Given the description of an element on the screen output the (x, y) to click on. 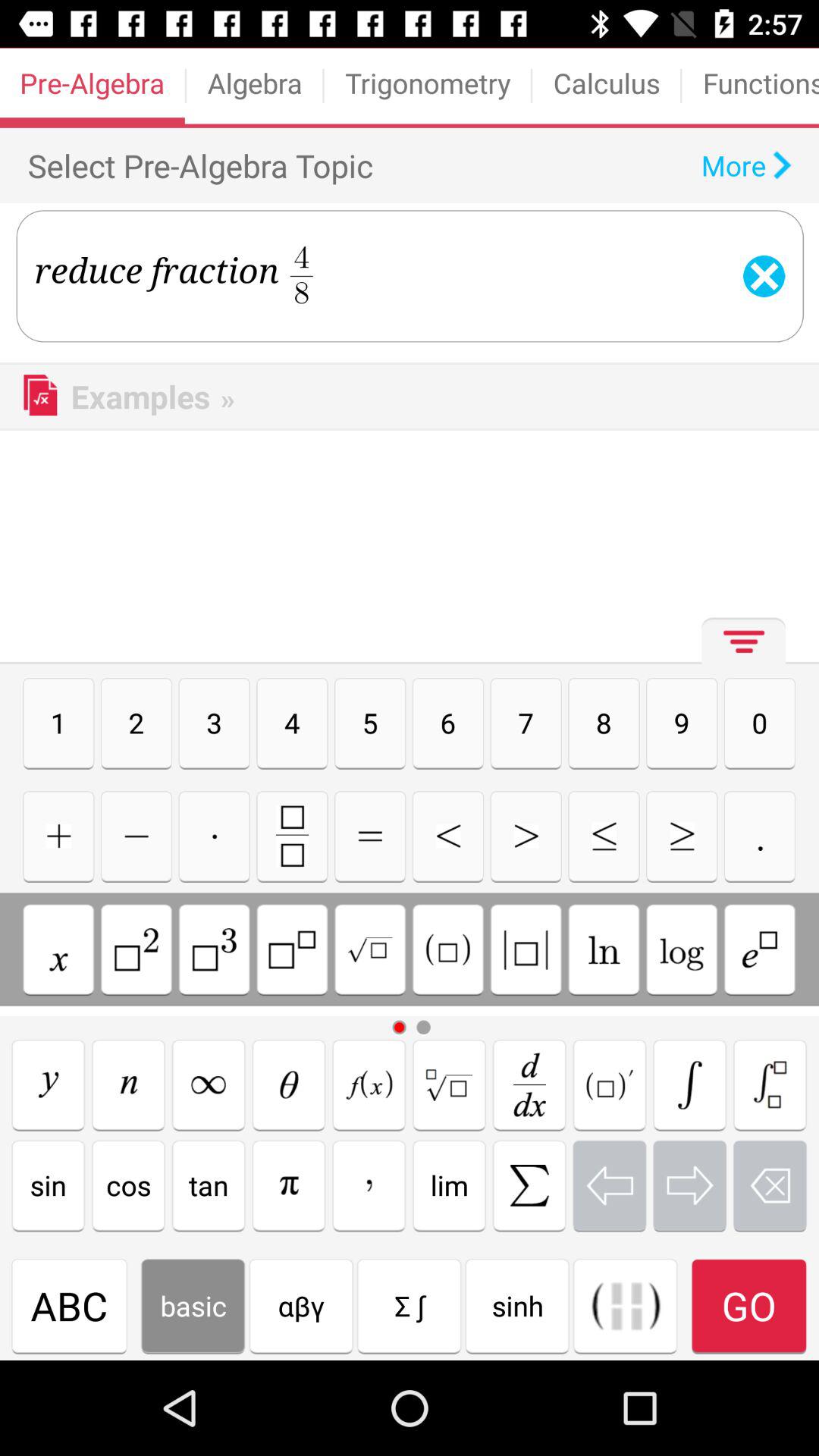
input x symbol (58, 949)
